Given the description of an element on the screen output the (x, y) to click on. 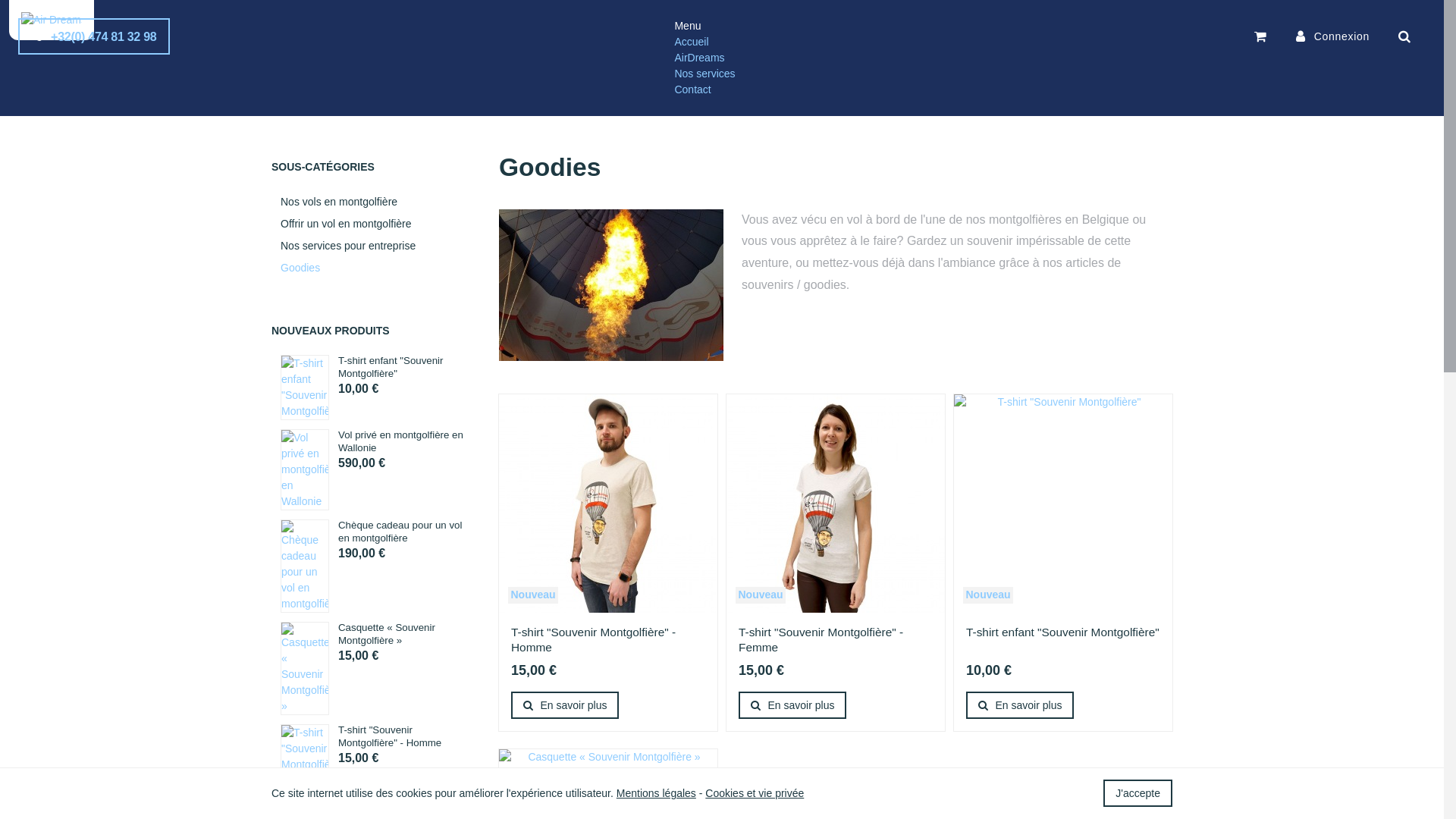
Air Dreams Element type: text (300, 90)
Nos services pour entreprise Element type: text (373, 246)
Goodies Element type: text (373, 268)
En savoir plus Element type: text (792, 704)
En savoir plus Element type: text (564, 704)
Nos services Element type: text (704, 73)
Nouveau Element type: text (533, 594)
Air Dreams Element type: hover (51, 20)
Connexion Element type: text (1332, 36)
Nouveau Element type: text (760, 594)
AirDreams Element type: text (699, 57)
Contact Element type: text (692, 89)
Nouveau Element type: text (988, 594)
Voir mon panier Element type: hover (1260, 36)
Accueil Element type: text (691, 41)
J'accepte Element type: text (1137, 792)
Nos services Element type: text (377, 90)
+32(0) 474 81 32 98 Element type: text (93, 36)
Air Dreams Element type: hover (51, 20)
En savoir plus Element type: text (1019, 704)
NOUVEAUX PRODUITS Element type: text (330, 330)
